Given the description of an element on the screen output the (x, y) to click on. 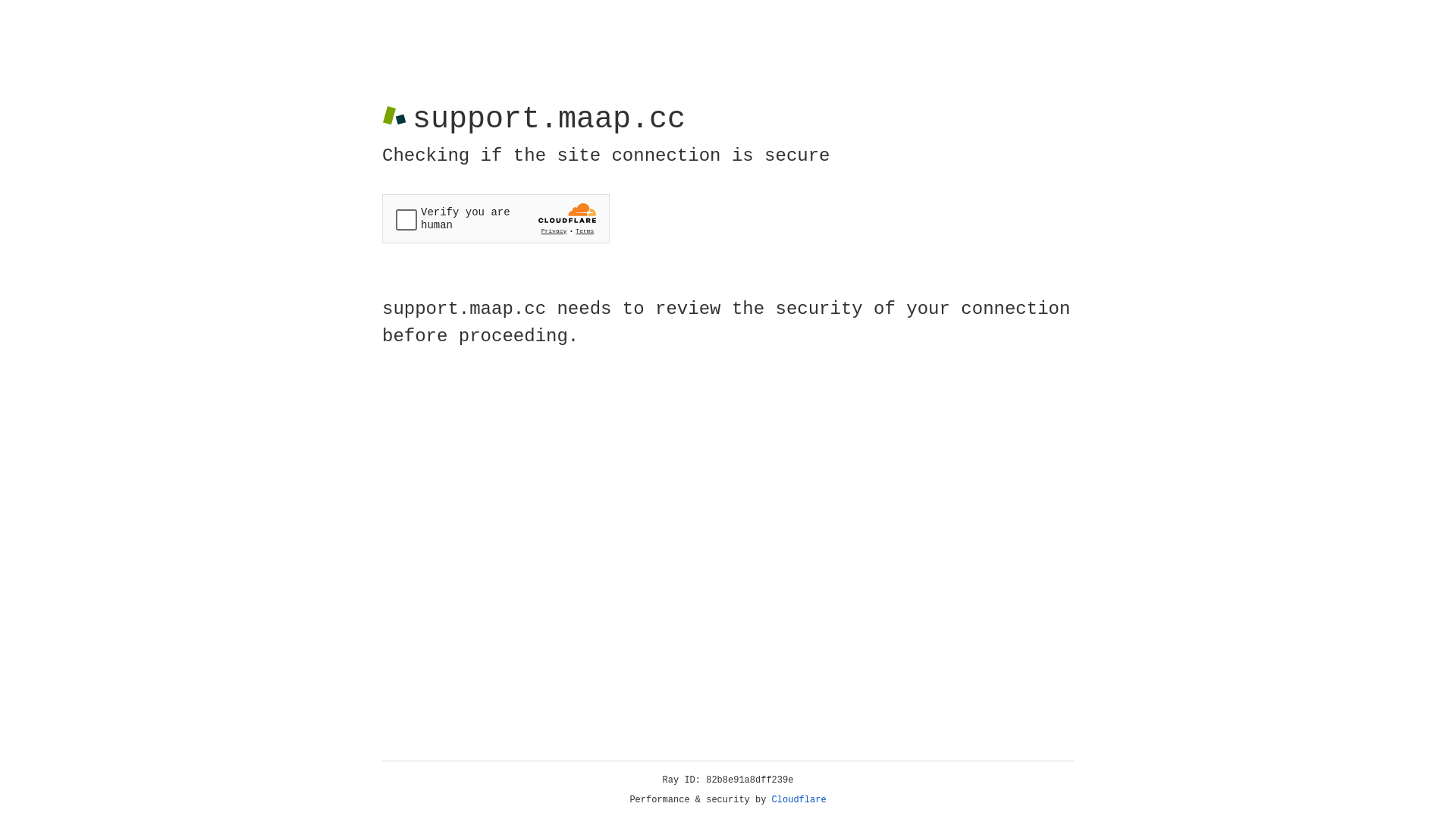
Cloudflare Element type: text (798, 799)
Widget containing a Cloudflare security challenge Element type: hover (495, 218)
